Given the description of an element on the screen output the (x, y) to click on. 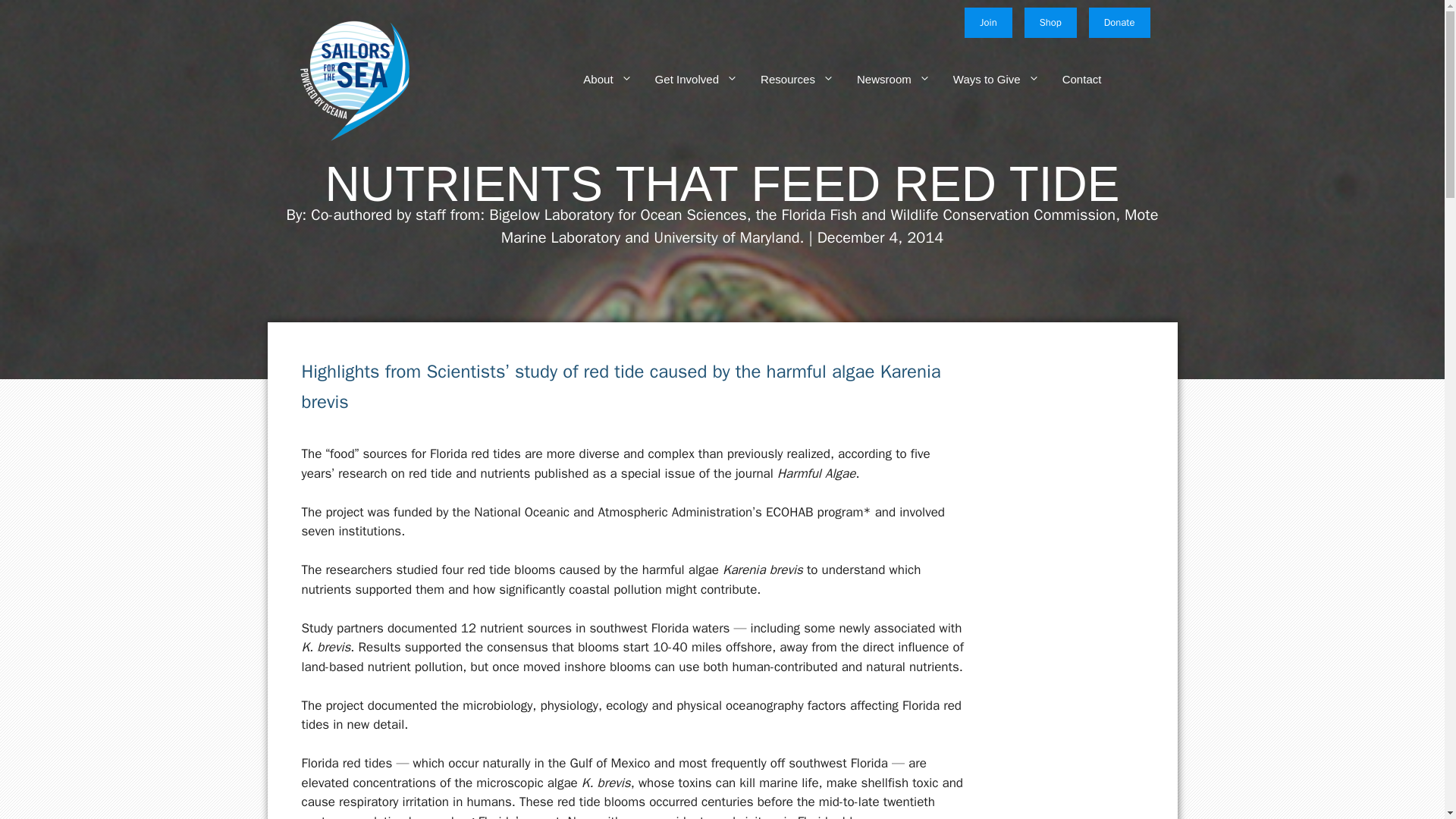
Sailors for the Sea (353, 78)
Ways to Give (984, 78)
Get Involved (684, 78)
About (595, 78)
Donate (1119, 22)
Join (987, 22)
Resources (786, 78)
Newsroom (882, 78)
Shop (1051, 22)
